Given the description of an element on the screen output the (x, y) to click on. 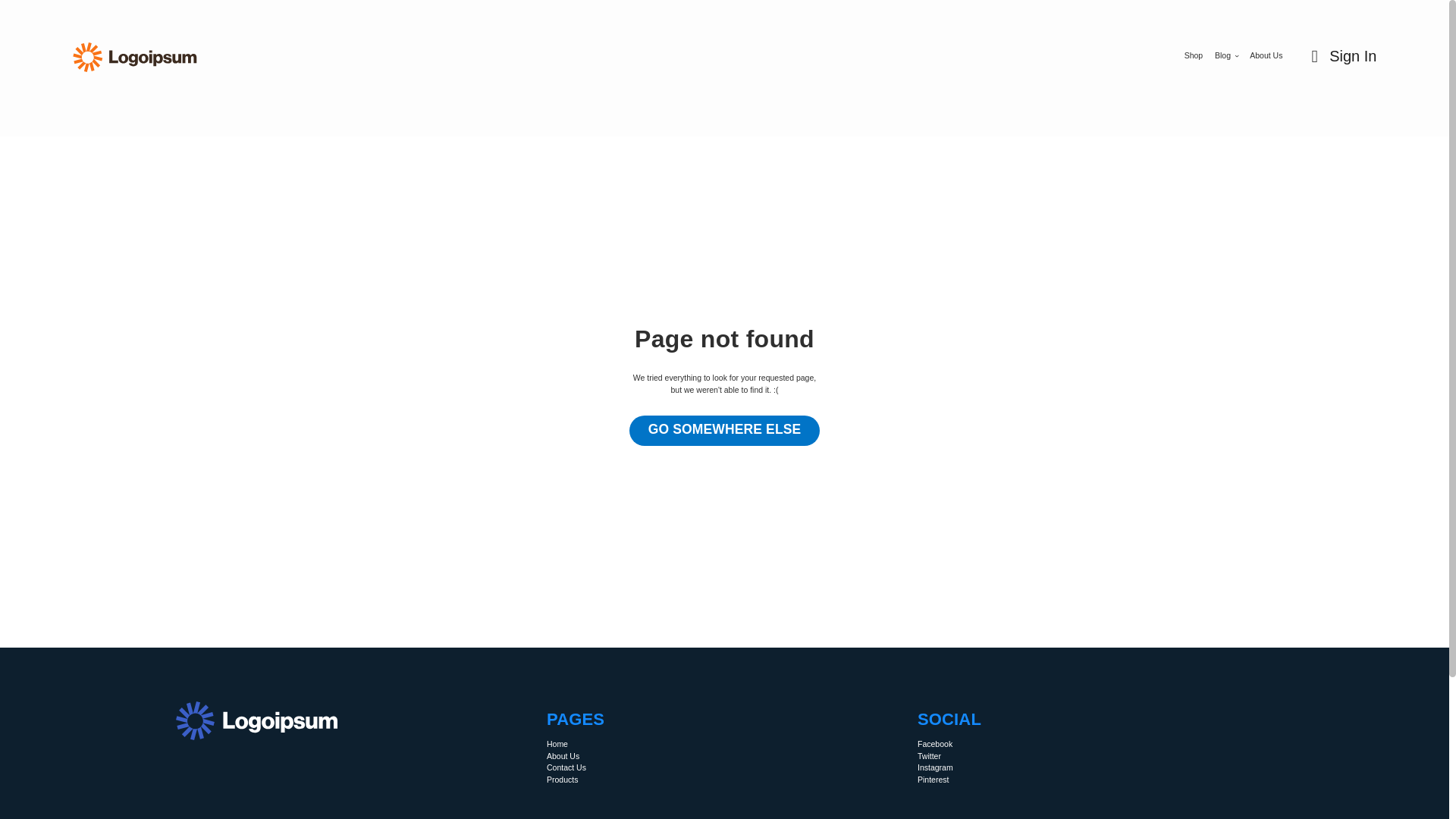
About Us (1265, 55)
Pinterest (933, 779)
Twitter (928, 756)
Instagram (935, 767)
Products (562, 779)
Shop (1194, 55)
GO SOMEWHERE ELSE (724, 430)
Blog (1226, 55)
About Us (563, 756)
Contact Us (566, 767)
Sign In (1339, 56)
Facebook (934, 744)
Home (557, 744)
